Given the description of an element on the screen output the (x, y) to click on. 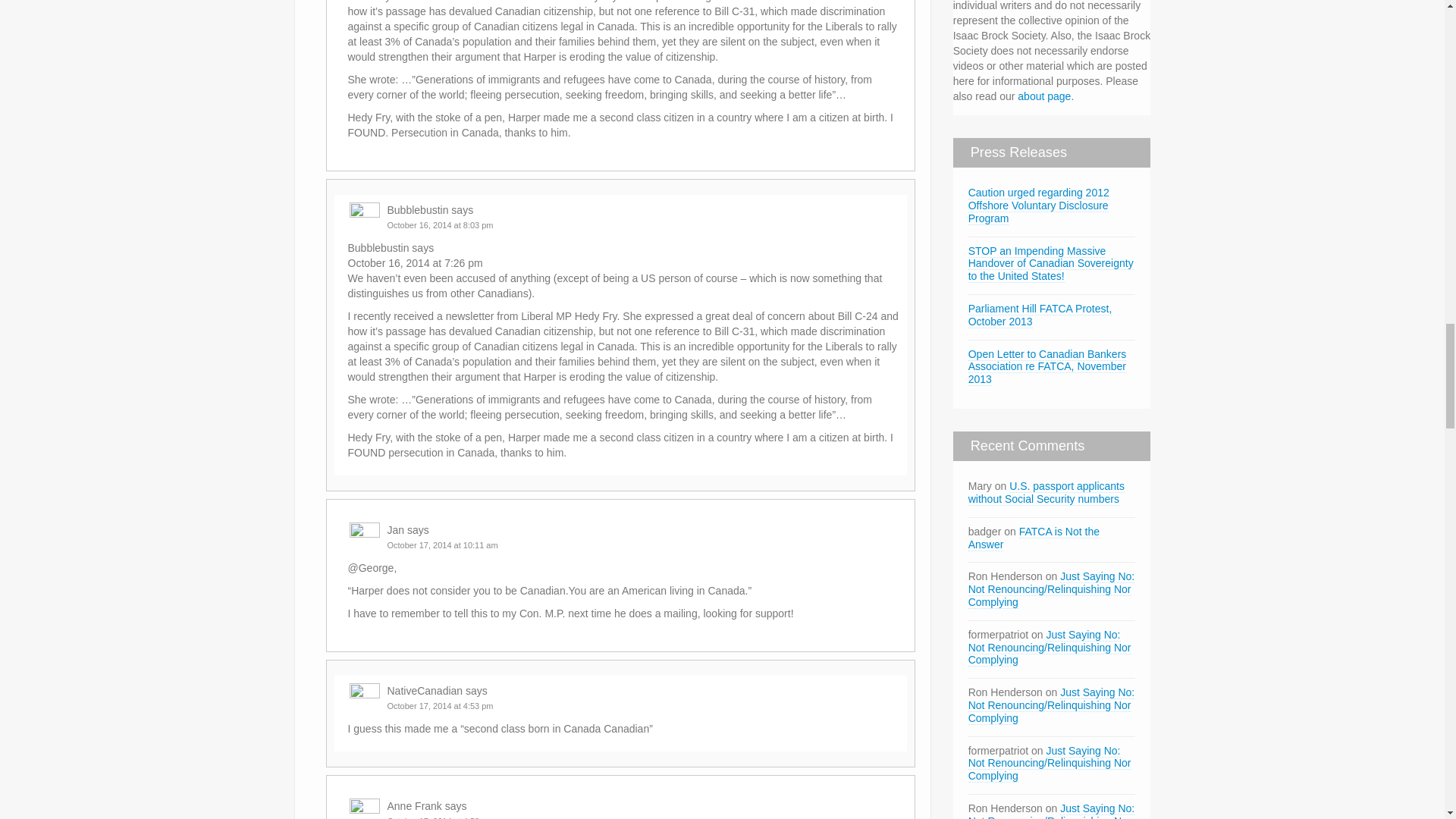
October 16, 2014 at 8:03 pm (440, 225)
October 17, 2014 at 4:53 pm (440, 705)
October 17, 2014 at 10:11 am (442, 544)
October 17, 2014 at 4:58 pm (440, 817)
